Given the description of an element on the screen output the (x, y) to click on. 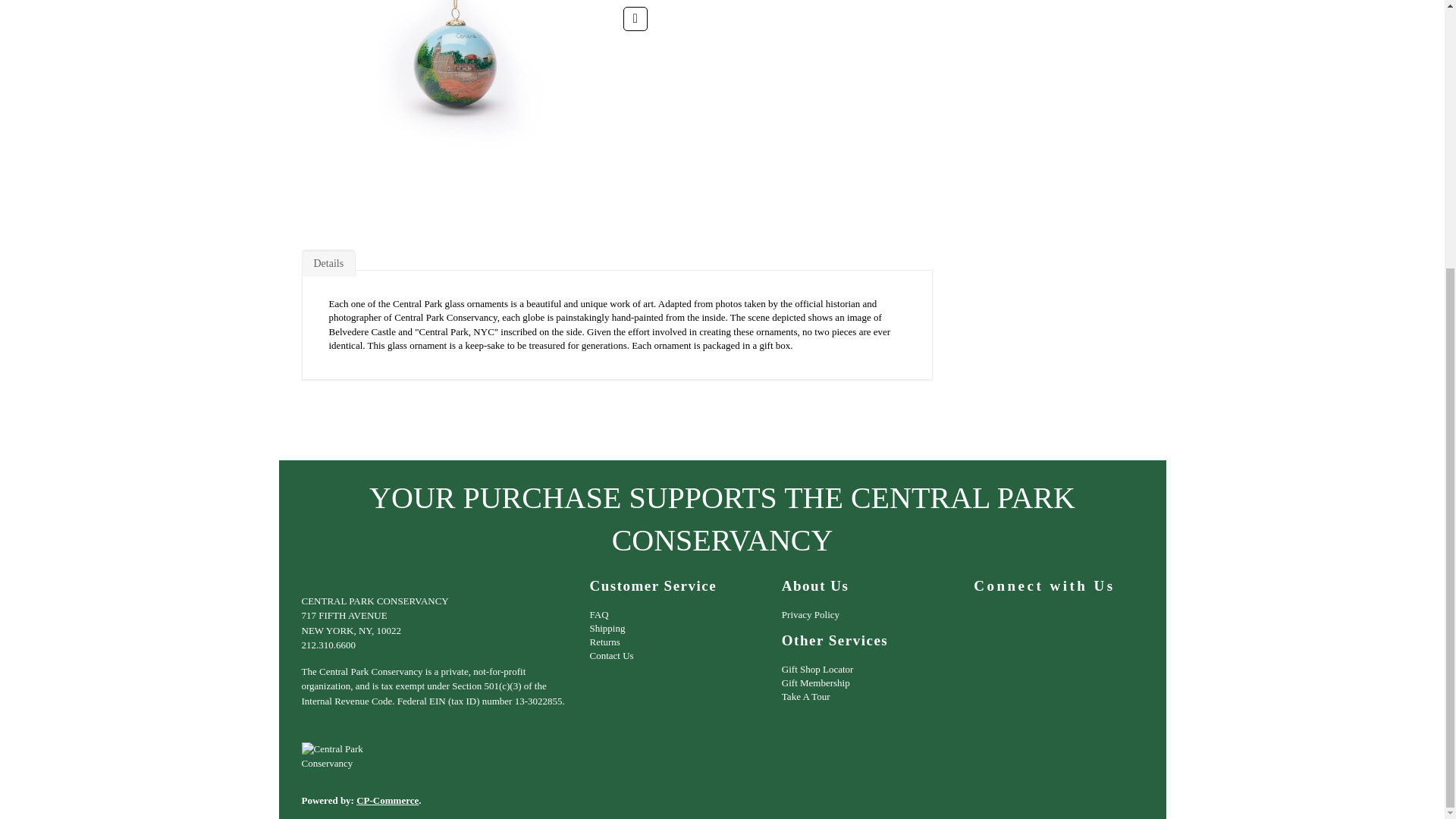
Add To Wish List (635, 18)
